Given the description of an element on the screen output the (x, y) to click on. 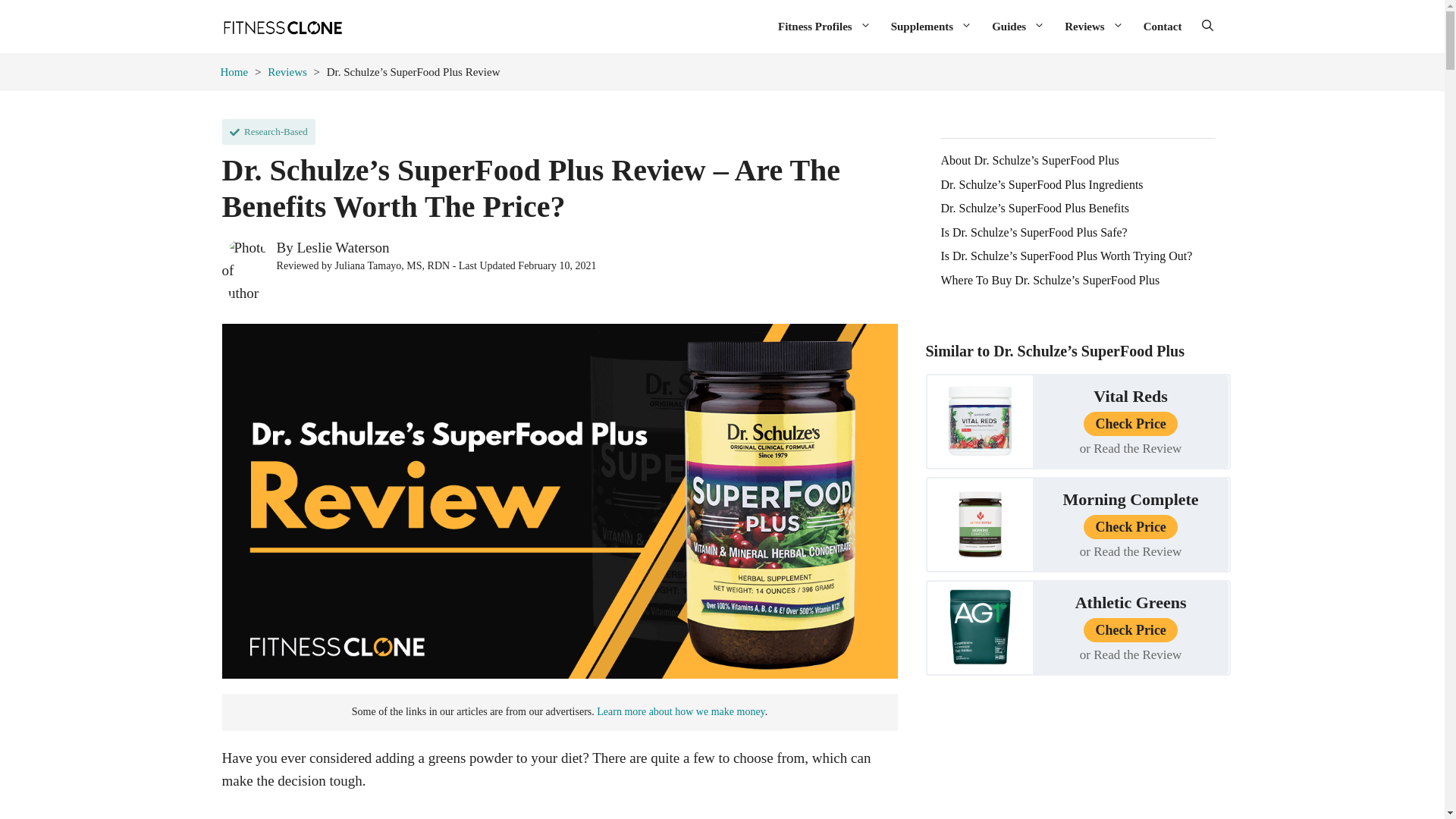
Reviews (1094, 25)
Guides (1017, 25)
Supplements (931, 25)
vital reds (979, 420)
morning complete (979, 523)
Fitness Profiles (824, 25)
